Given the description of an element on the screen output the (x, y) to click on. 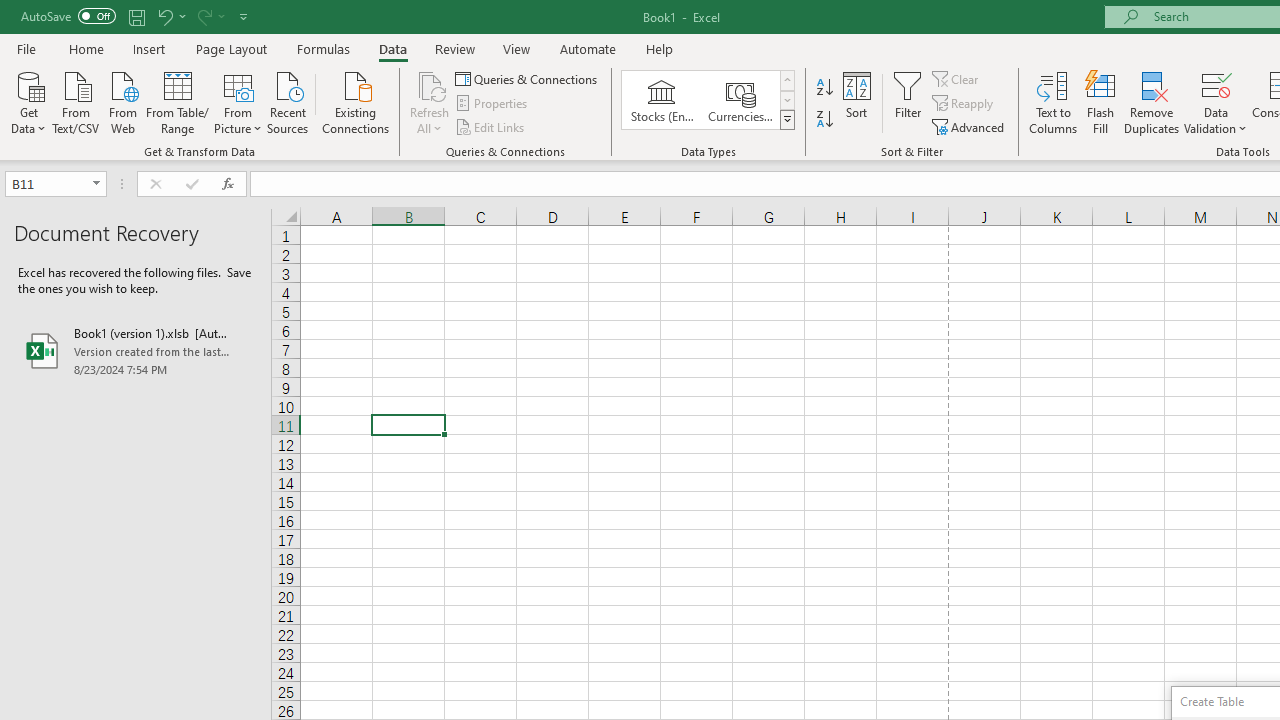
Properties (492, 103)
Advanced... (970, 126)
Remove Duplicates (1151, 102)
Sort... (856, 102)
Currencies (English) (740, 100)
